Given the description of an element on the screen output the (x, y) to click on. 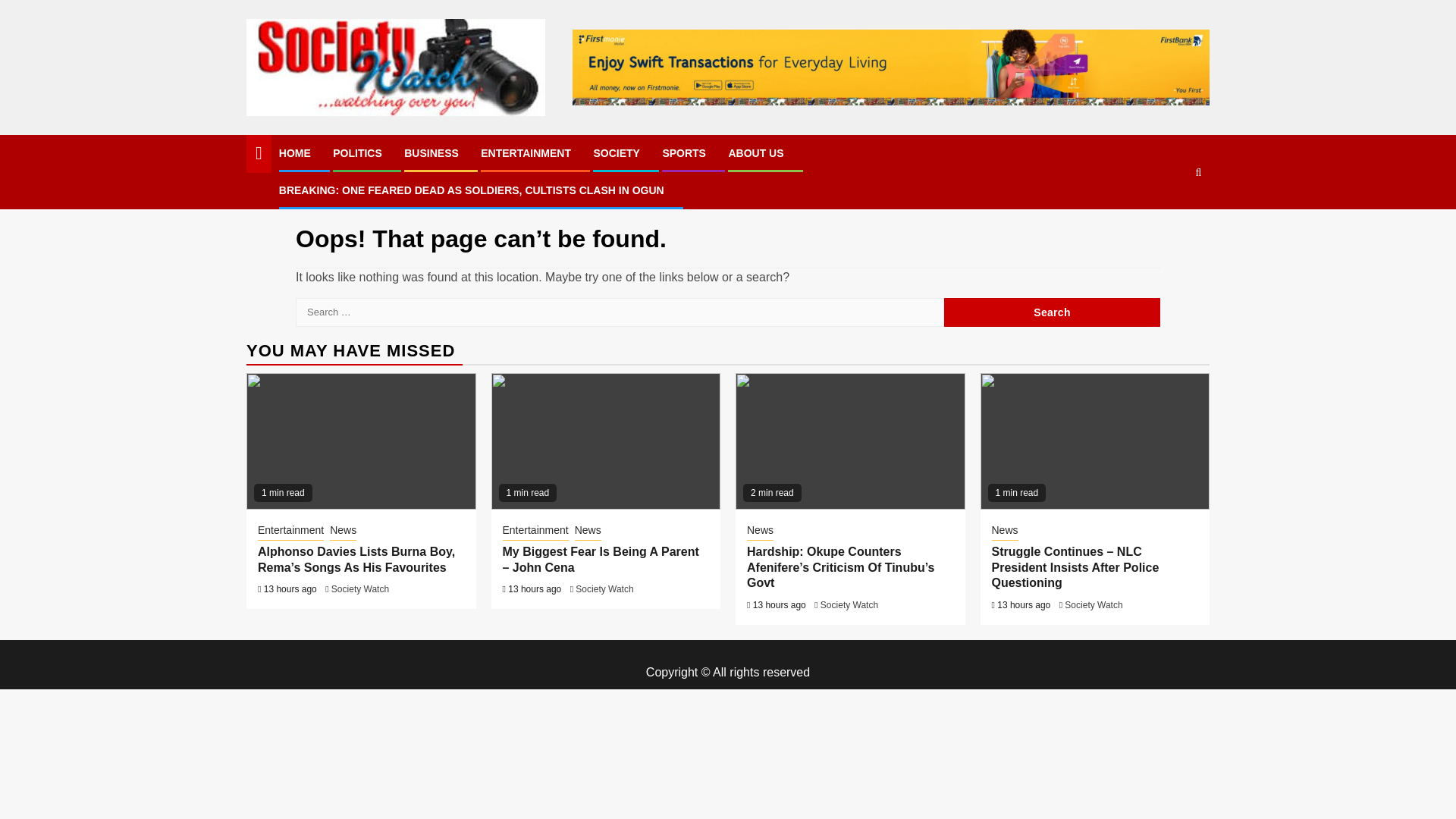
POLITICS (357, 152)
Search (1168, 217)
SPORTS (684, 152)
Society Watch (1093, 604)
Entertainment (290, 531)
Search (1051, 312)
ENTERTAINMENT (525, 152)
Society Watch (604, 588)
Search (1051, 312)
ABOUT US (755, 152)
